Given the description of an element on the screen output the (x, y) to click on. 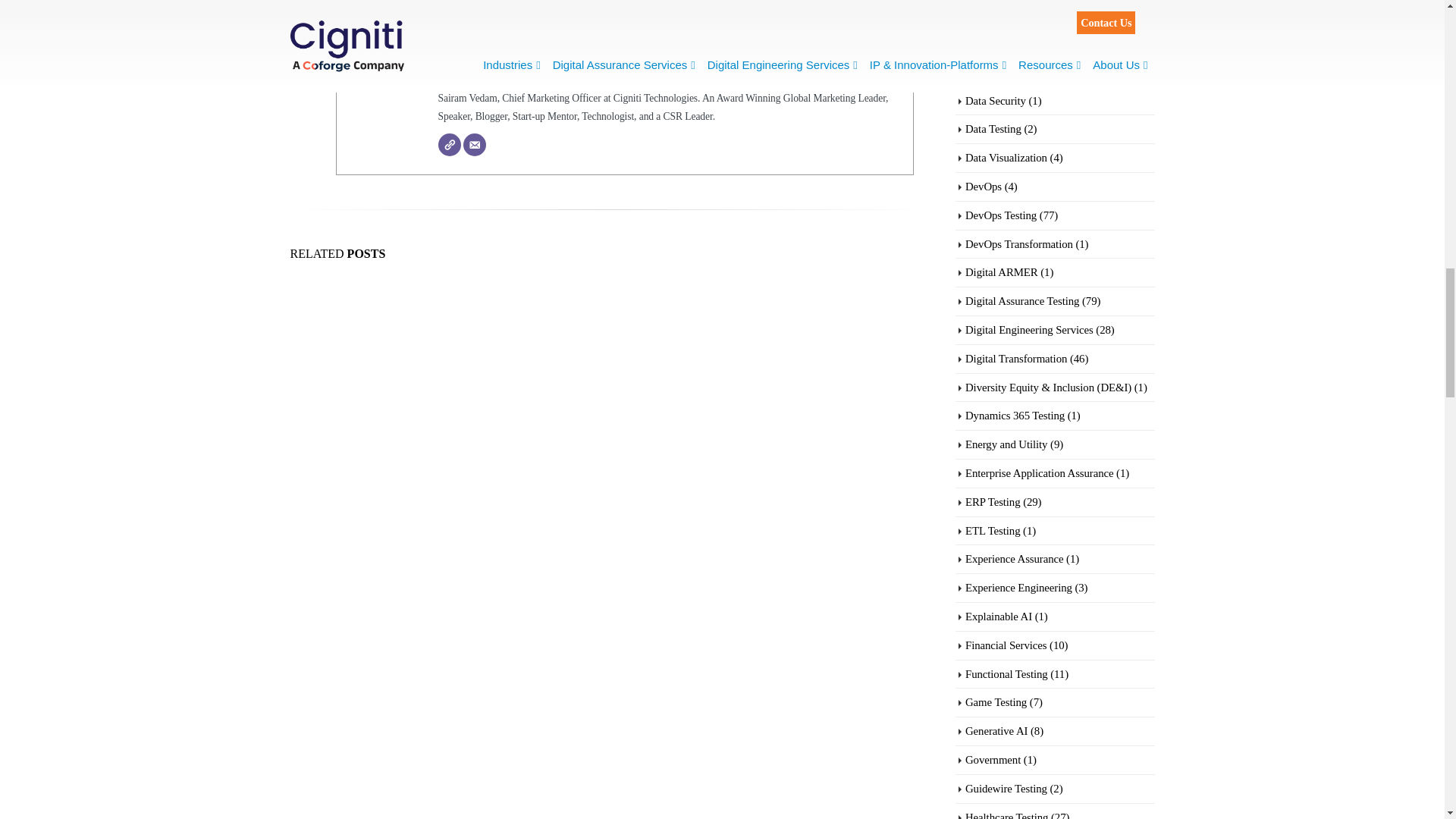
Sairam Vedam (480, 71)
